Given the description of an element on the screen output the (x, y) to click on. 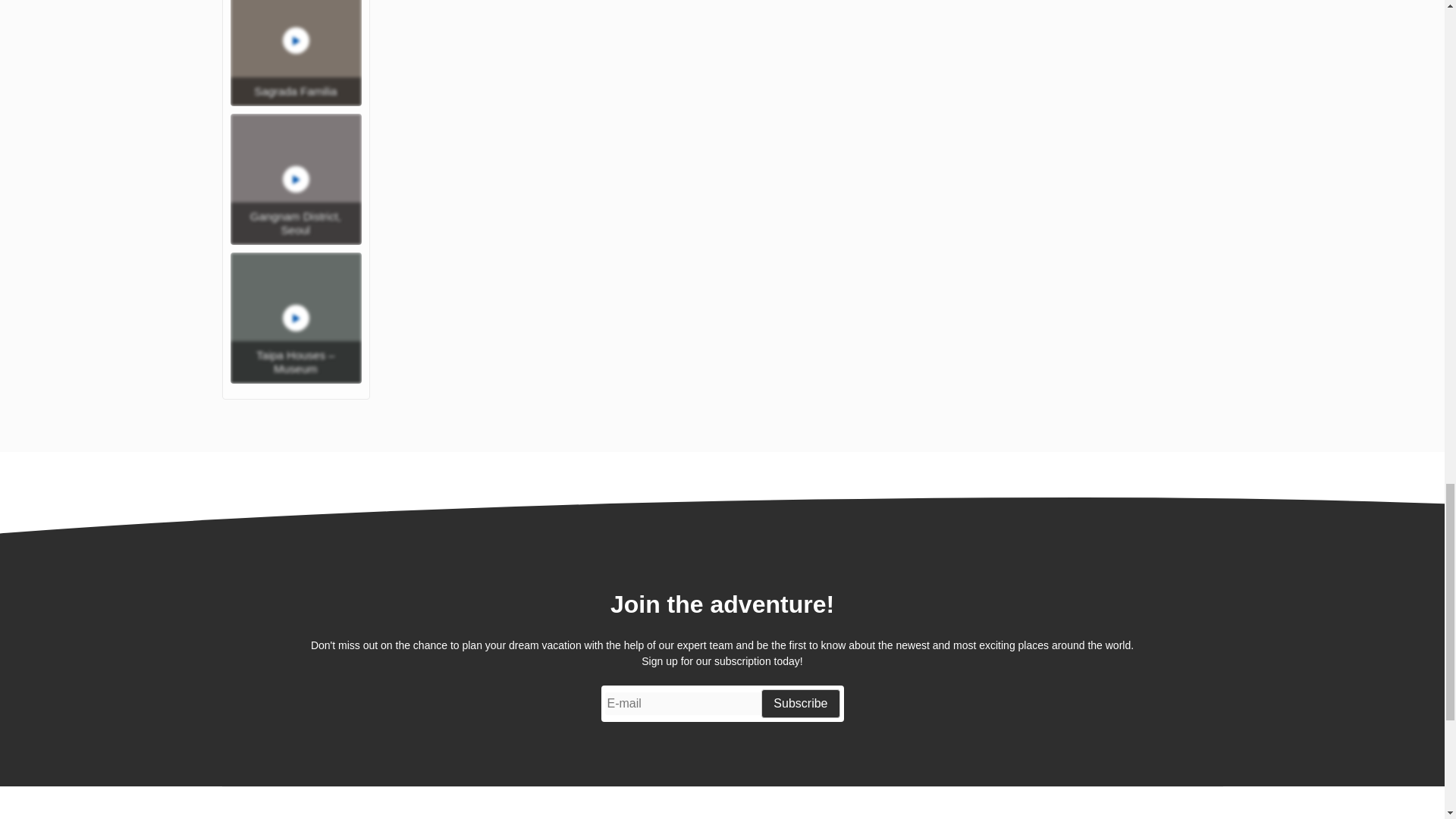
Sagrada Familia (295, 53)
Gangnam District, Seoul (295, 178)
